Given the description of an element on the screen output the (x, y) to click on. 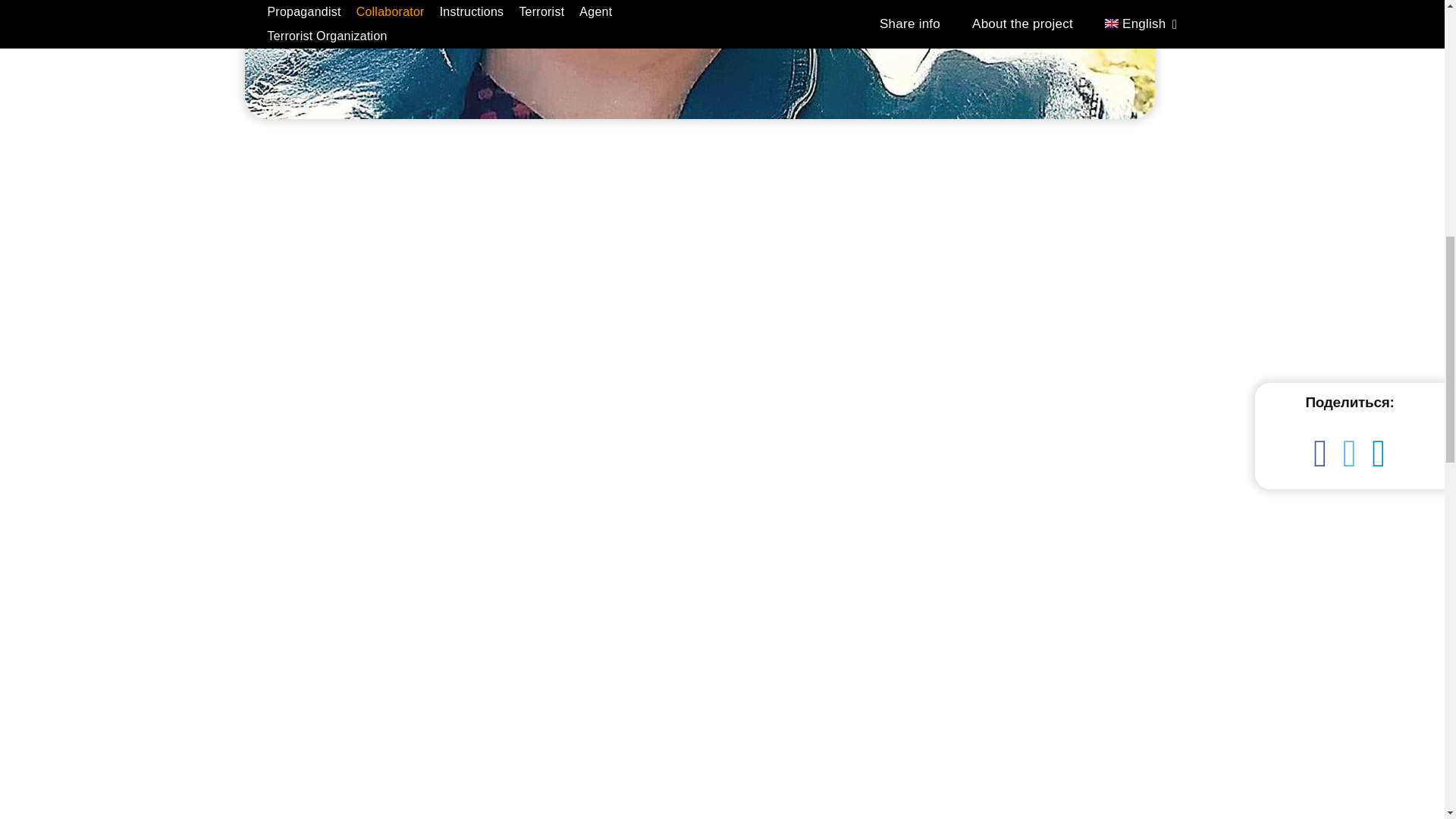
0 (699, 59)
